Given the description of an element on the screen output the (x, y) to click on. 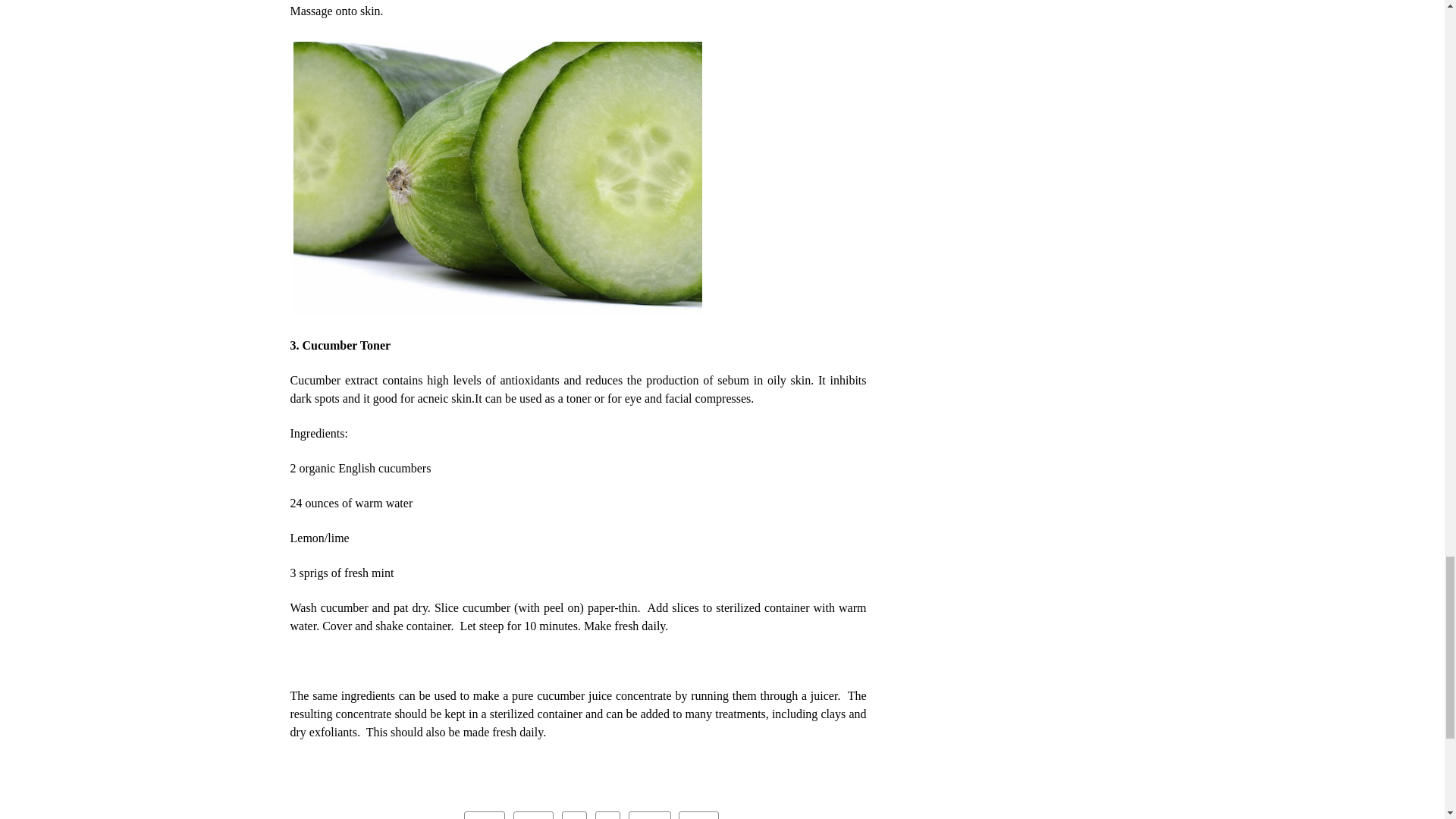
2 (608, 815)
End (698, 815)
Next (649, 815)
